Given the description of an element on the screen output the (x, y) to click on. 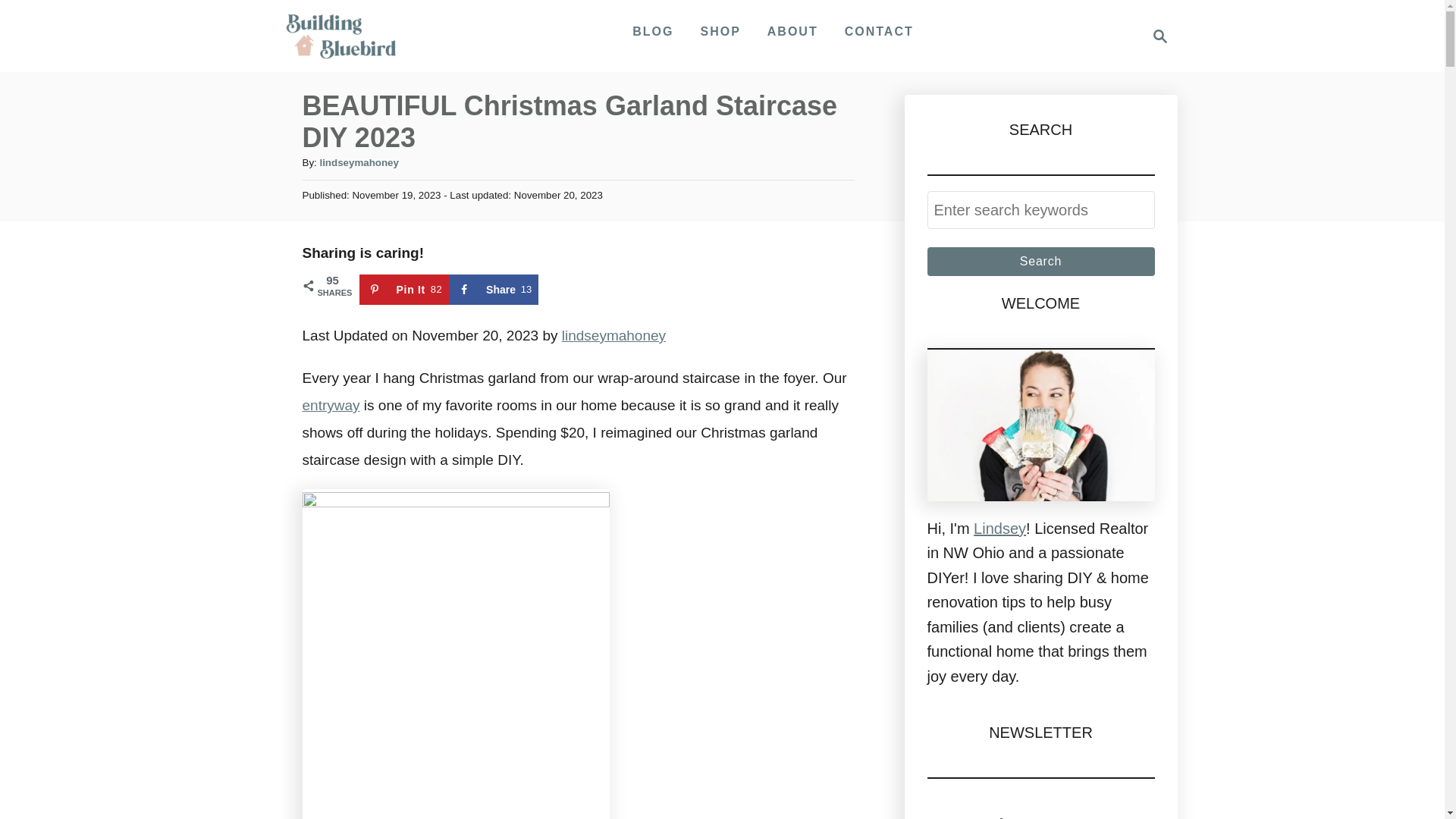
Search for: (1040, 210)
Magnifying Glass (1160, 36)
lindseymahoney (404, 289)
Share on Facebook (613, 335)
SHOP (493, 289)
ABOUT (720, 31)
BLOG (493, 289)
lindseymahoney (792, 31)
Search (652, 31)
Search (357, 162)
entryway (1040, 261)
CONTACT (1040, 261)
Save to Pinterest (330, 405)
